Given the description of an element on the screen output the (x, y) to click on. 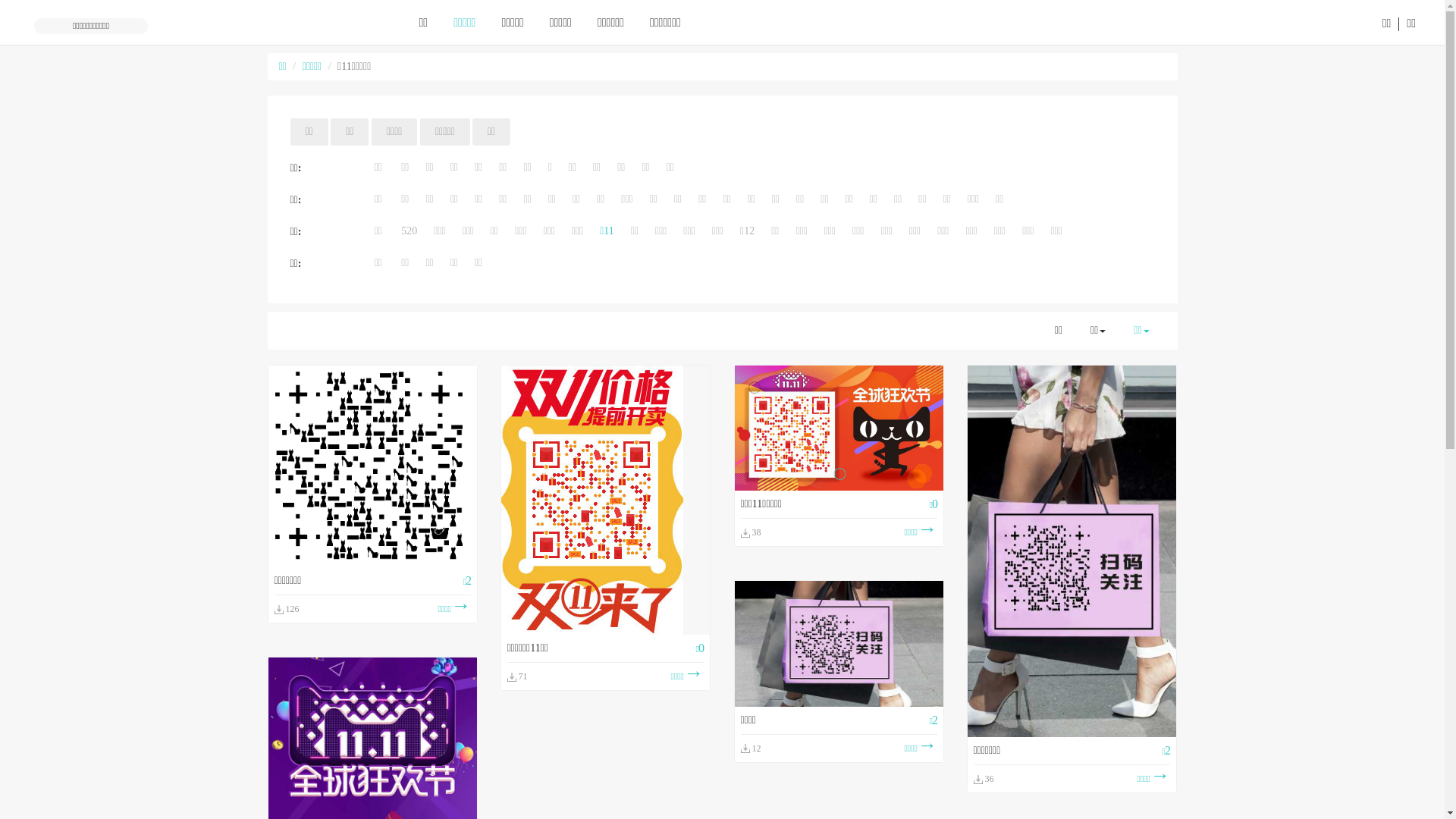
520 Element type: text (408, 230)
